Given the description of an element on the screen output the (x, y) to click on. 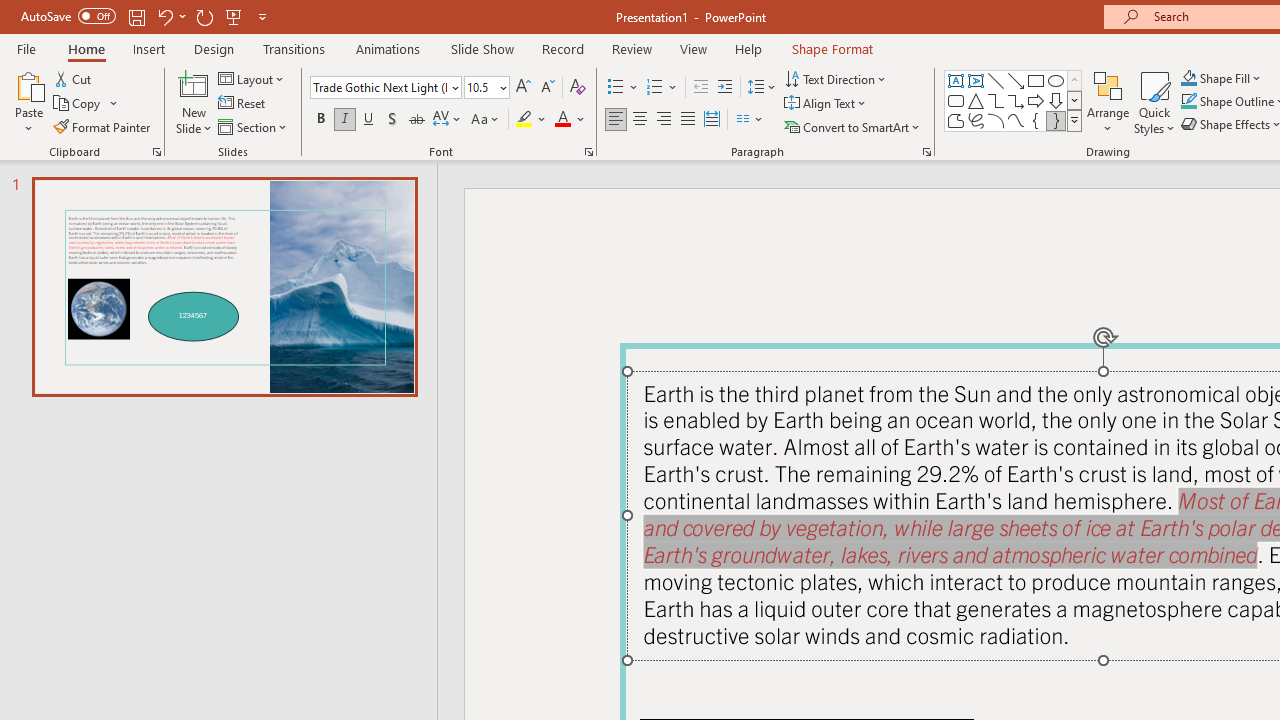
Shape Format (832, 48)
